Given the description of an element on the screen output the (x, y) to click on. 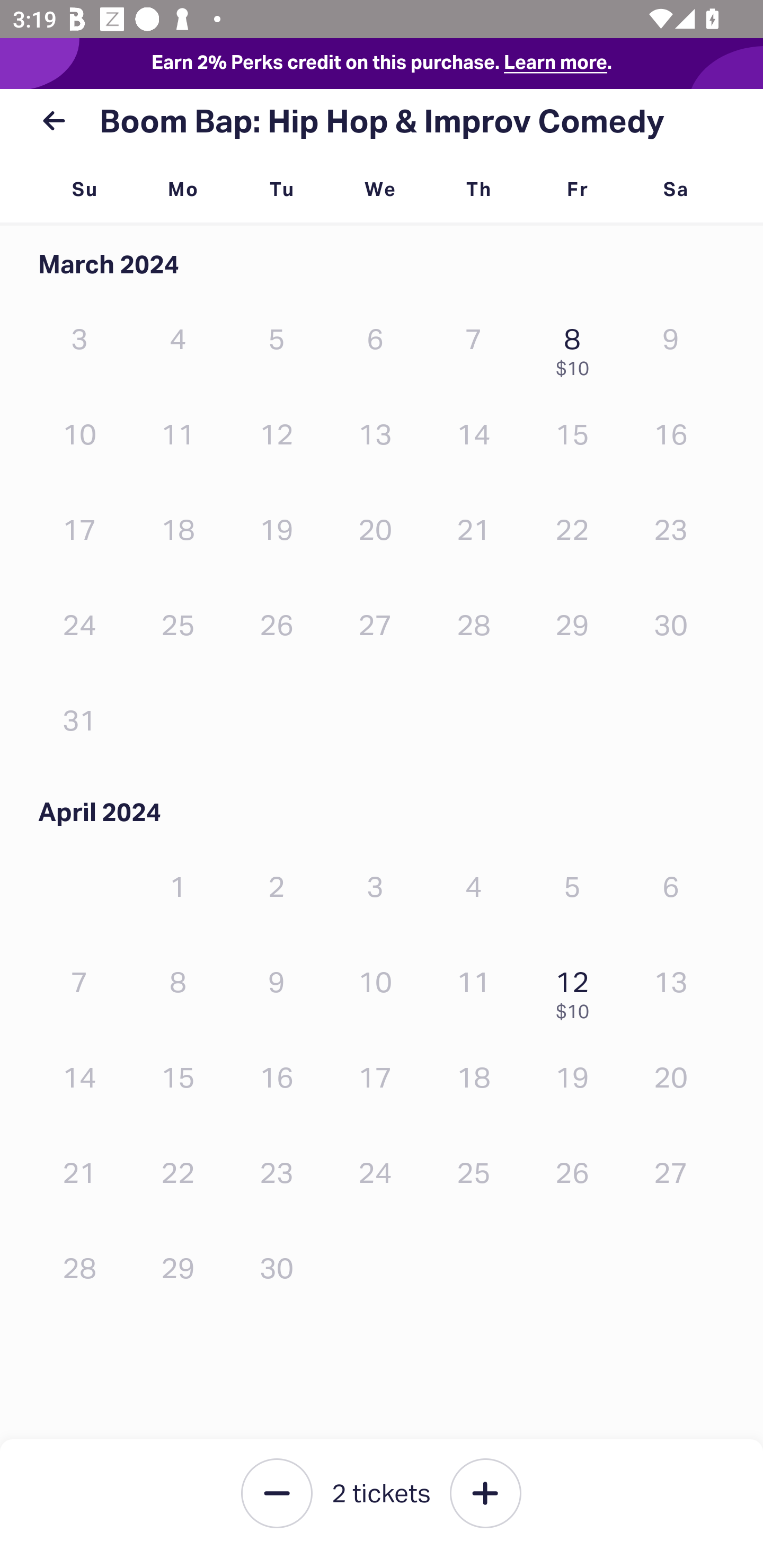
Earn 2% Perks credit on this purchase. Learn more. (381, 63)
back button (53, 120)
8 $10 (577, 347)
12 $10 (577, 989)
